Given the description of an element on the screen output the (x, y) to click on. 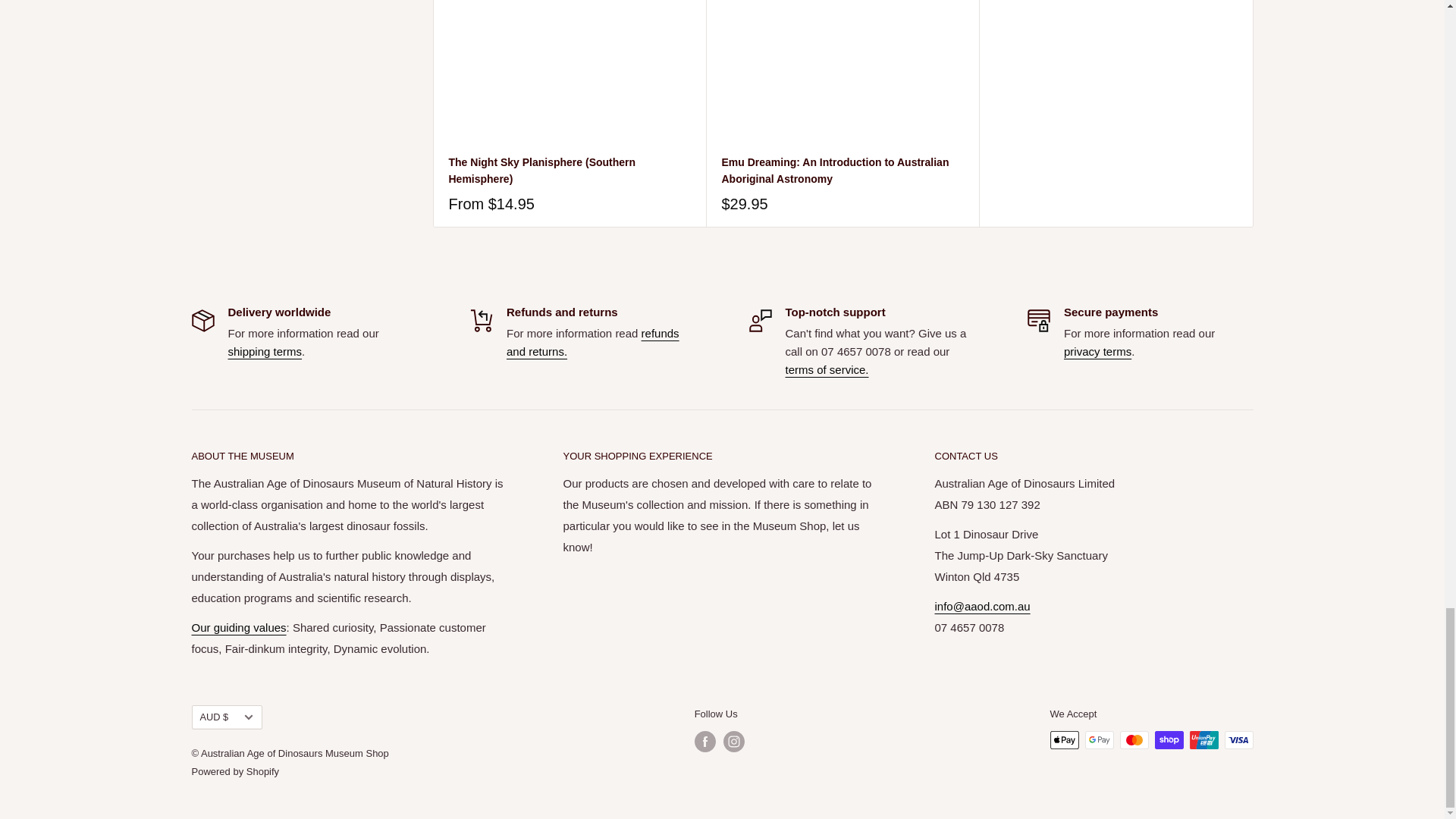
Shipping Policy (264, 350)
Privacy Policy (1097, 350)
Terms of Service (827, 369)
Refund Policy (592, 341)
